Given the description of an element on the screen output the (x, y) to click on. 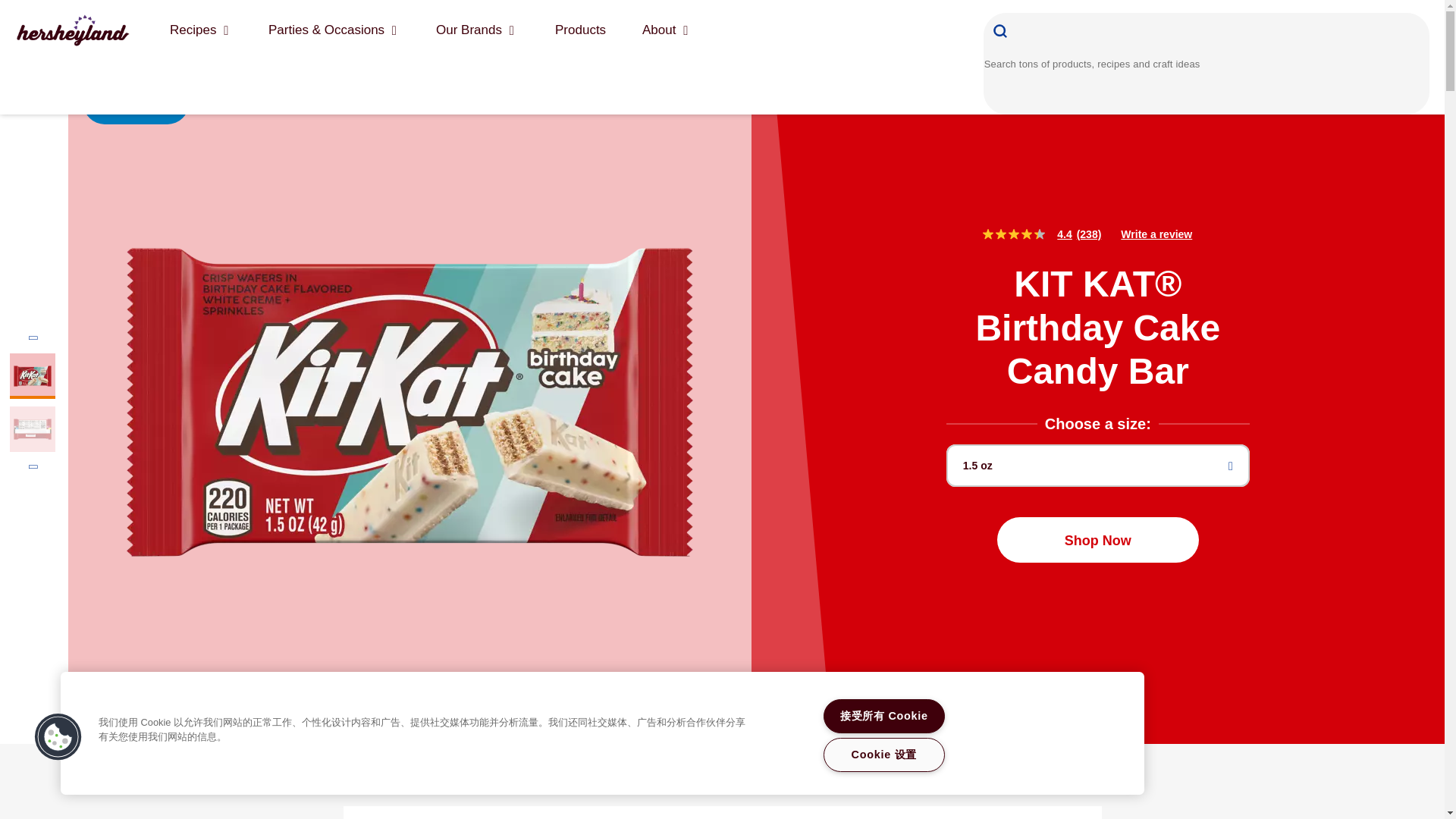
Products (579, 29)
Search (1002, 29)
Our Brands (474, 29)
Recipes (199, 29)
About (664, 29)
Submit (1002, 29)
